Given the description of an element on the screen output the (x, y) to click on. 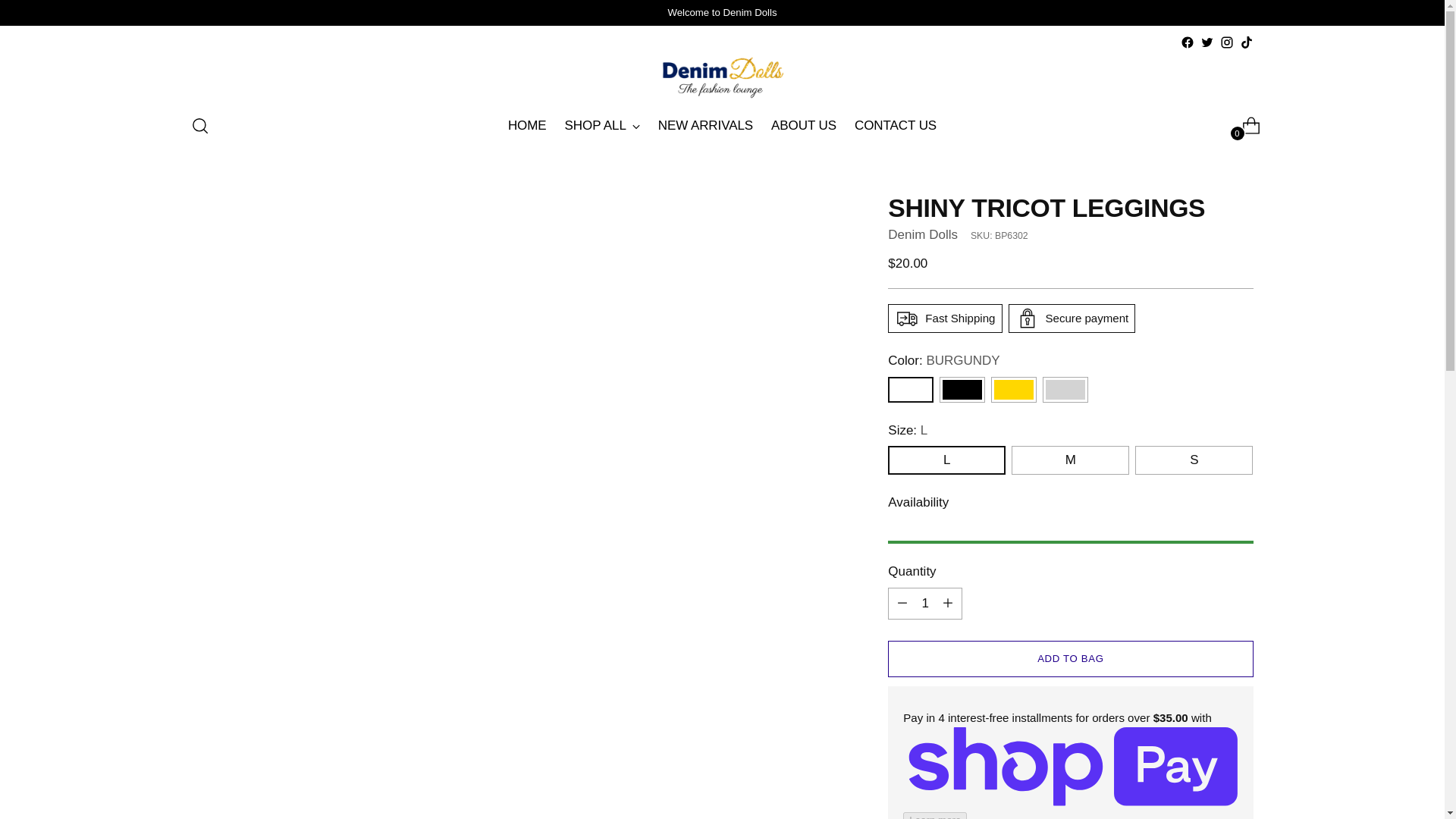
HOME (527, 125)
Denim Dolls on Facebook (1186, 42)
CONTACT US (895, 125)
Welcome to Denim Dolls (721, 12)
NEW ARRIVALS (705, 125)
Denim Dolls (923, 234)
Denim Dolls on Twitter (1205, 42)
ABOUT US (803, 125)
0 (1245, 125)
Denim Dolls on Instagram (1226, 42)
